Given the description of an element on the screen output the (x, y) to click on. 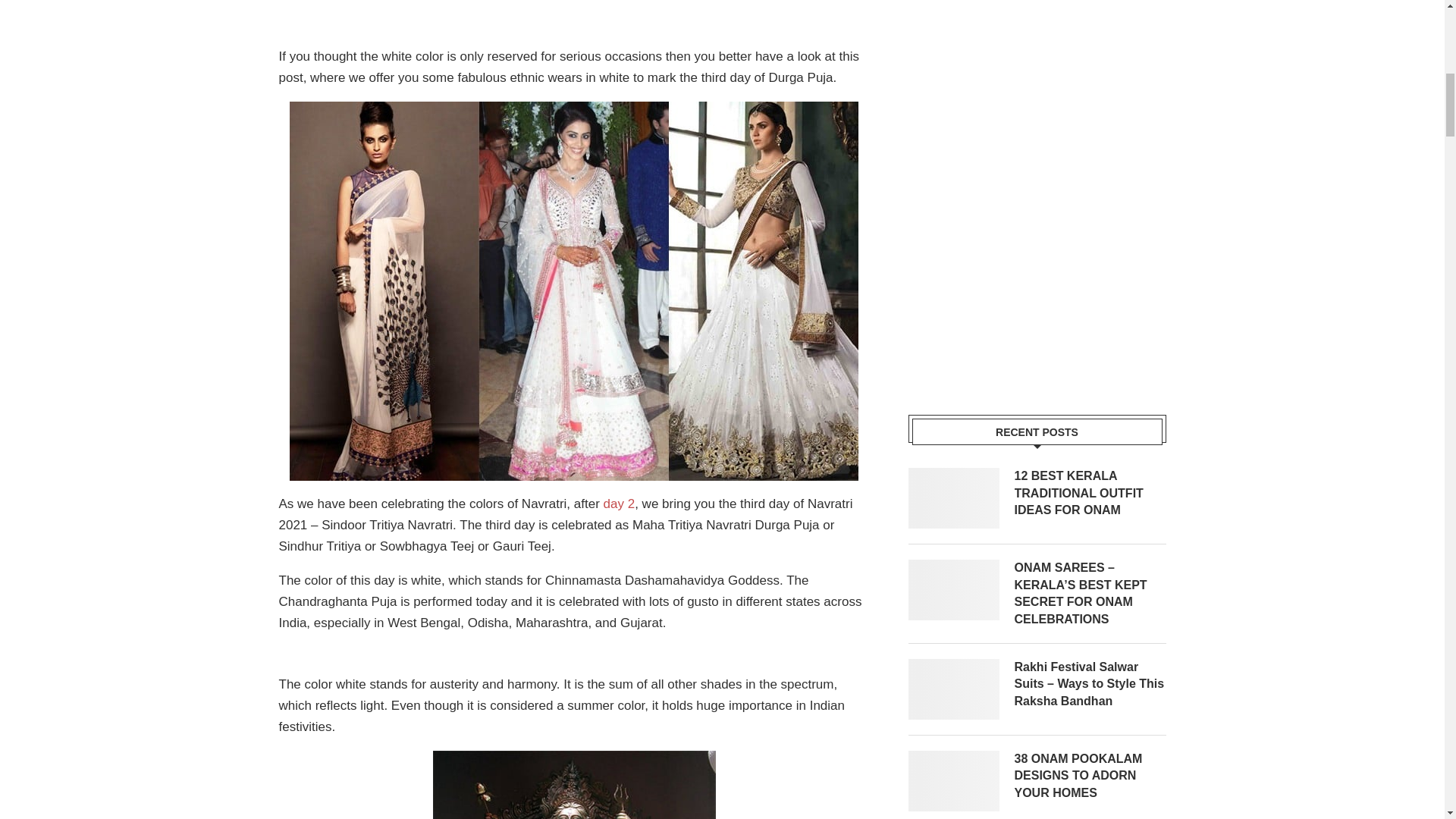
day 2 (619, 503)
